Given the description of an element on the screen output the (x, y) to click on. 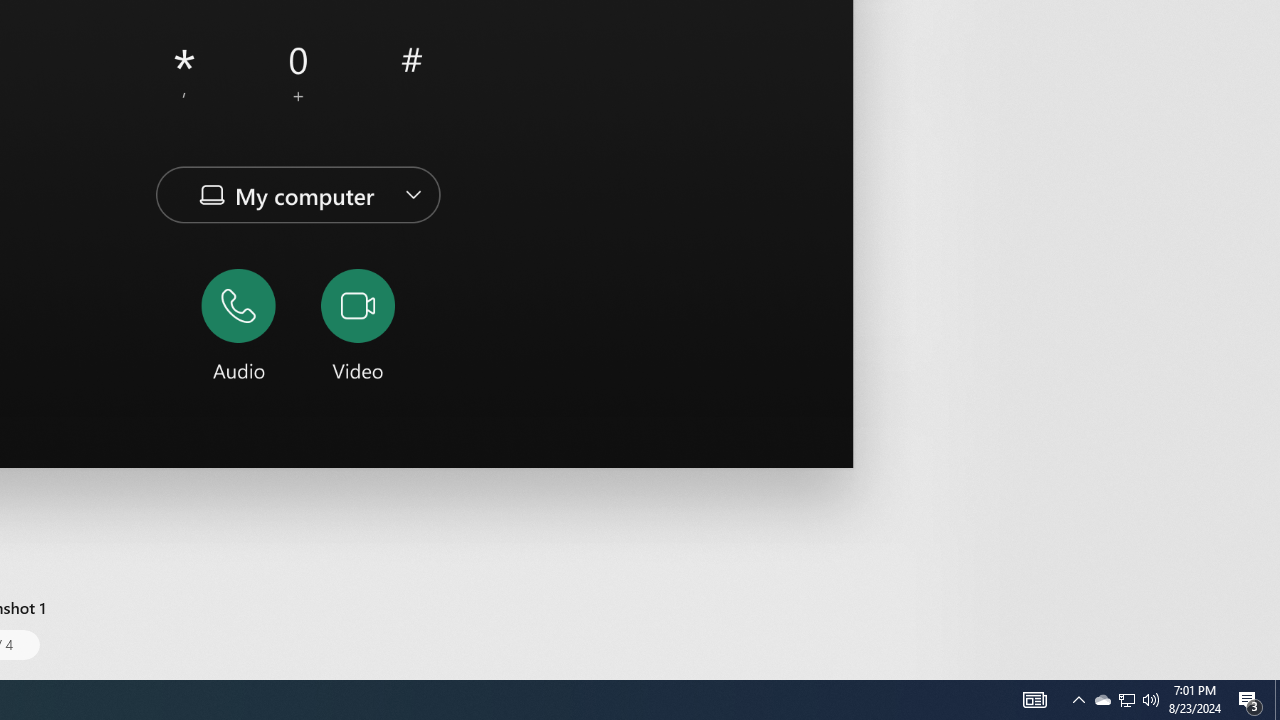
No, this was not helpful. 23 votes. (864, 398)
Yes, this was helpful. 34 votes. (797, 398)
Show all ratings and reviews (924, 85)
Report review (917, 398)
